Given the description of an element on the screen output the (x, y) to click on. 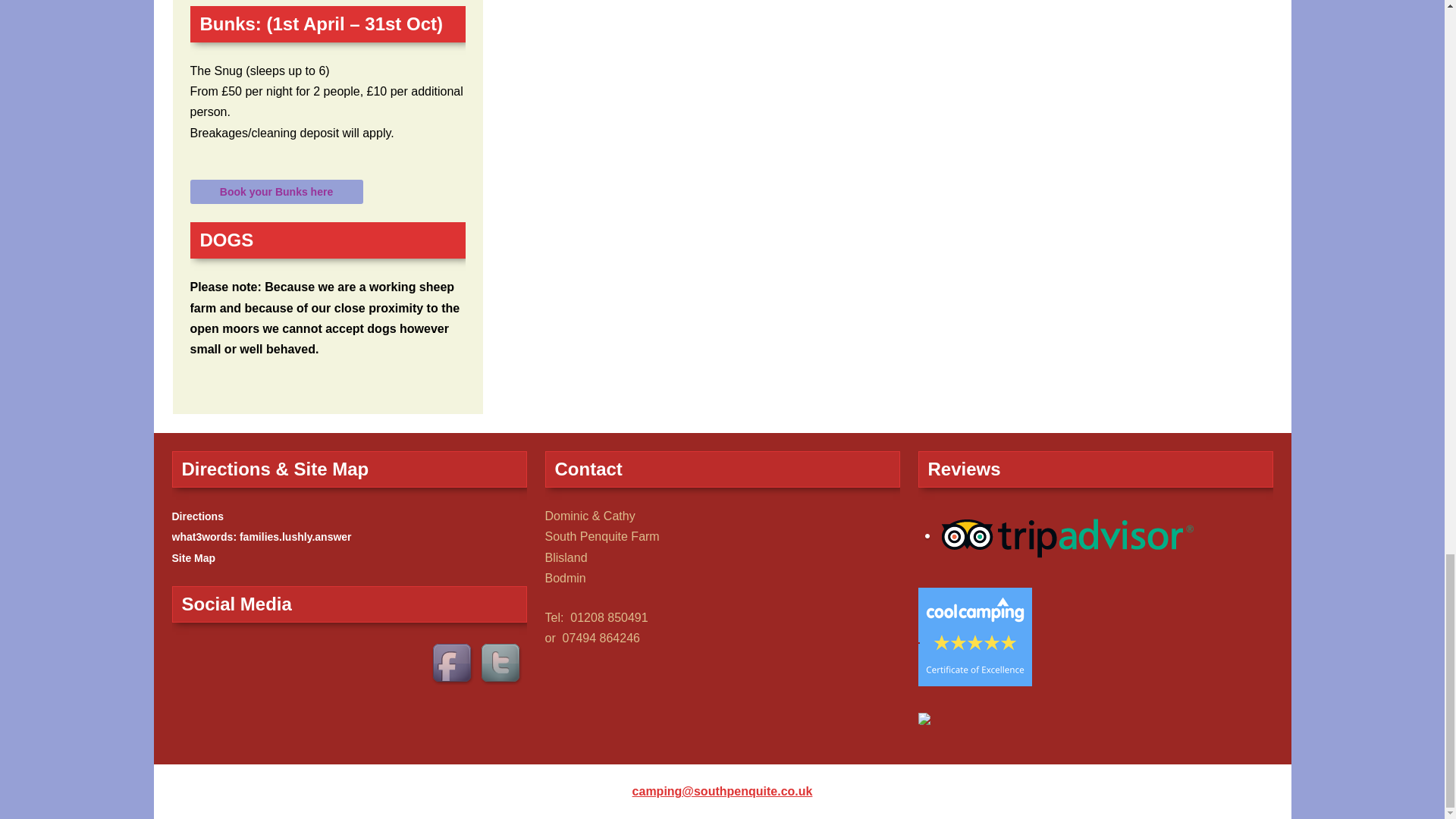
Recommended by PitchUp (923, 717)
twitter (501, 664)
Recommended by Cool Camping (973, 635)
facebook (453, 664)
